Given the description of an element on the screen output the (x, y) to click on. 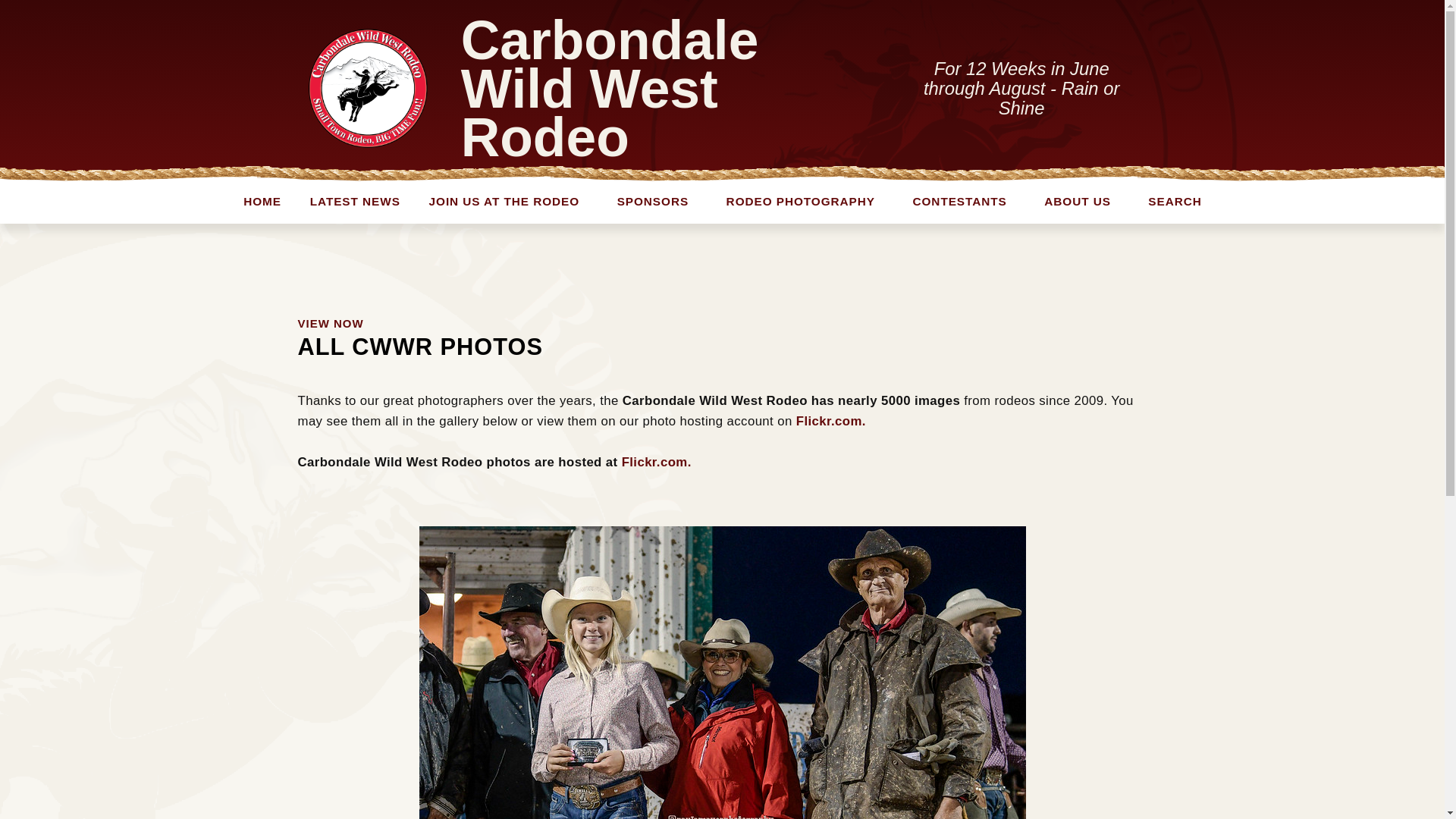
LATEST NEWS (345, 198)
ABOUT US (1073, 198)
SPONSORS (648, 198)
CONTESTANTS (953, 198)
HOME (256, 198)
RODEO PHOTOGRAPHY (790, 198)
JOIN US AT THE RODEO (493, 198)
